Given the description of an element on the screen output the (x, y) to click on. 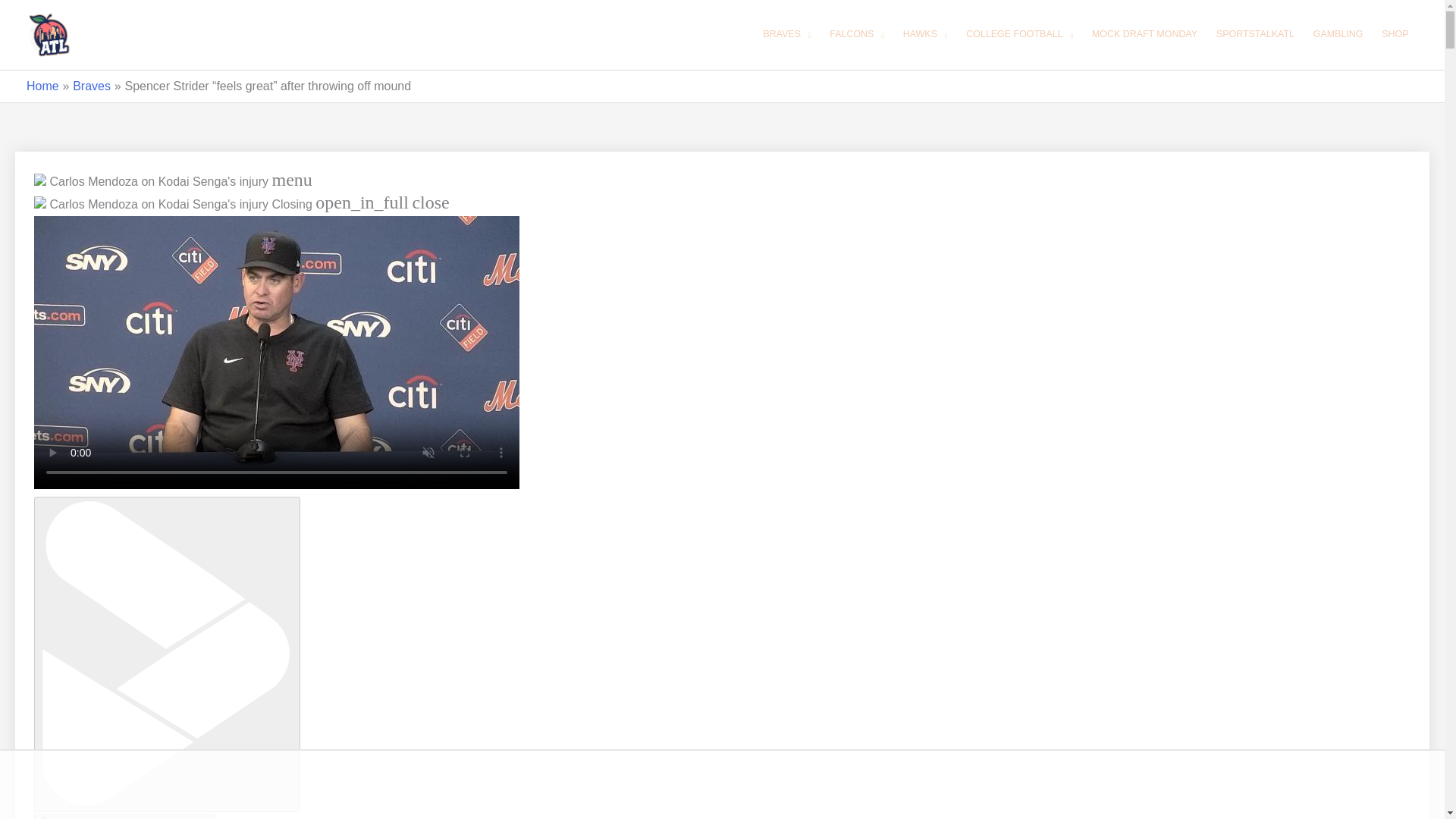
HAWKS (924, 34)
MOCK DRAFT MONDAY (1144, 34)
SPORTSTALKATL (1255, 34)
FALCONS (857, 34)
GAMBLING (1338, 34)
COLLEGE FOOTBALL (1019, 34)
BRAVES (787, 34)
